Given the description of an element on the screen output the (x, y) to click on. 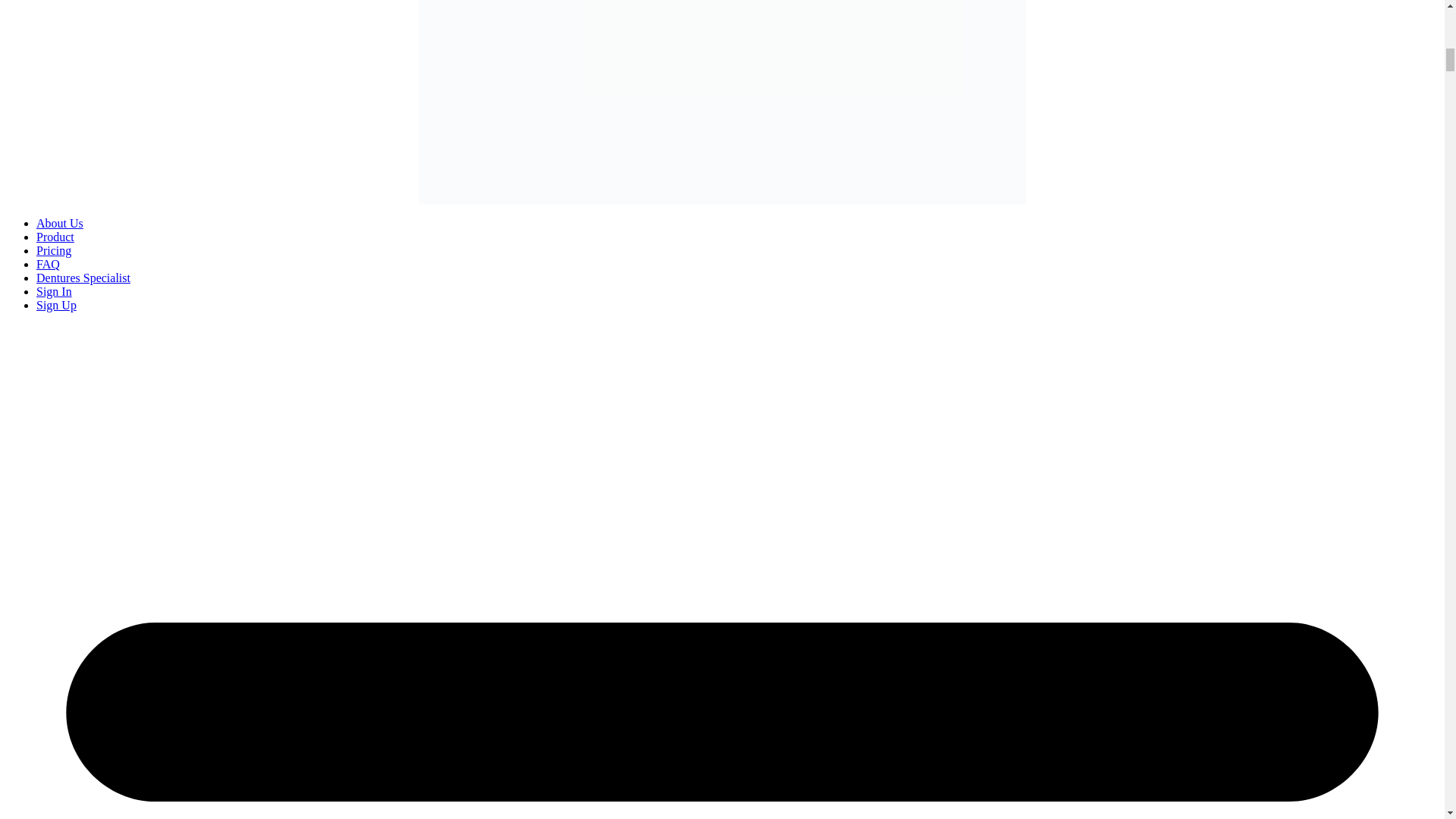
Product (55, 236)
FAQ (47, 264)
Pricing (53, 250)
About Us (59, 223)
Sign Up (56, 305)
Sign In (53, 291)
Dentures Specialist (83, 277)
